Given the description of an element on the screen output the (x, y) to click on. 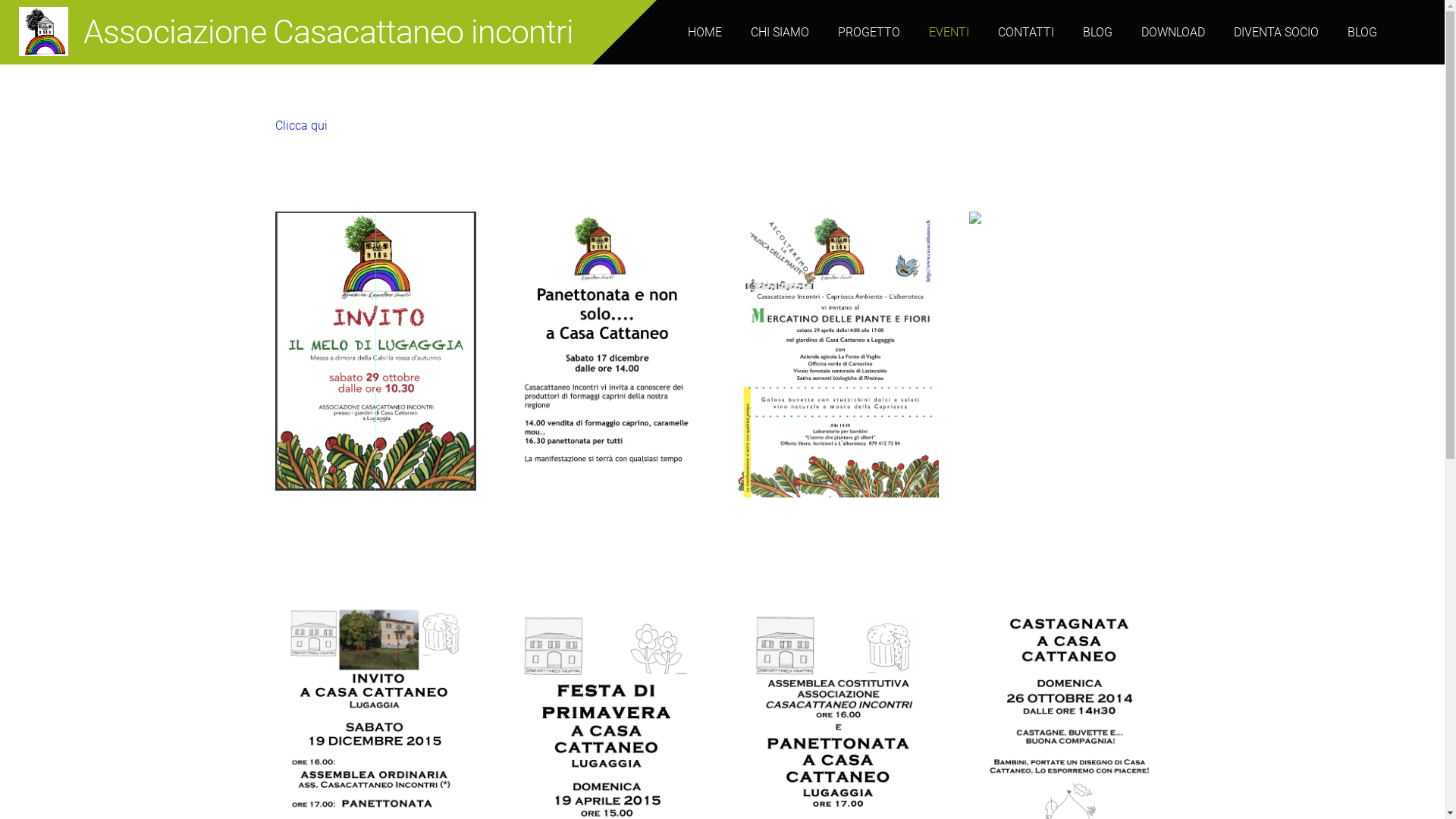
BLOG Element type: text (1097, 32)
CONTATTI Element type: text (1025, 32)
PROGETTO Element type: text (868, 32)
BLOG Element type: text (1361, 32)
DIVENTA SOCIO Element type: text (1276, 32)
DOWNLOAD Element type: text (1172, 32)
Associazione Casacattaneo incontri Element type: text (295, 38)
CHI SIAMO Element type: text (779, 32)
EVENTI Element type: text (948, 32)
HOME Element type: text (704, 32)
Clicca qui Element type: text (300, 125)
